Given the description of an element on the screen output the (x, y) to click on. 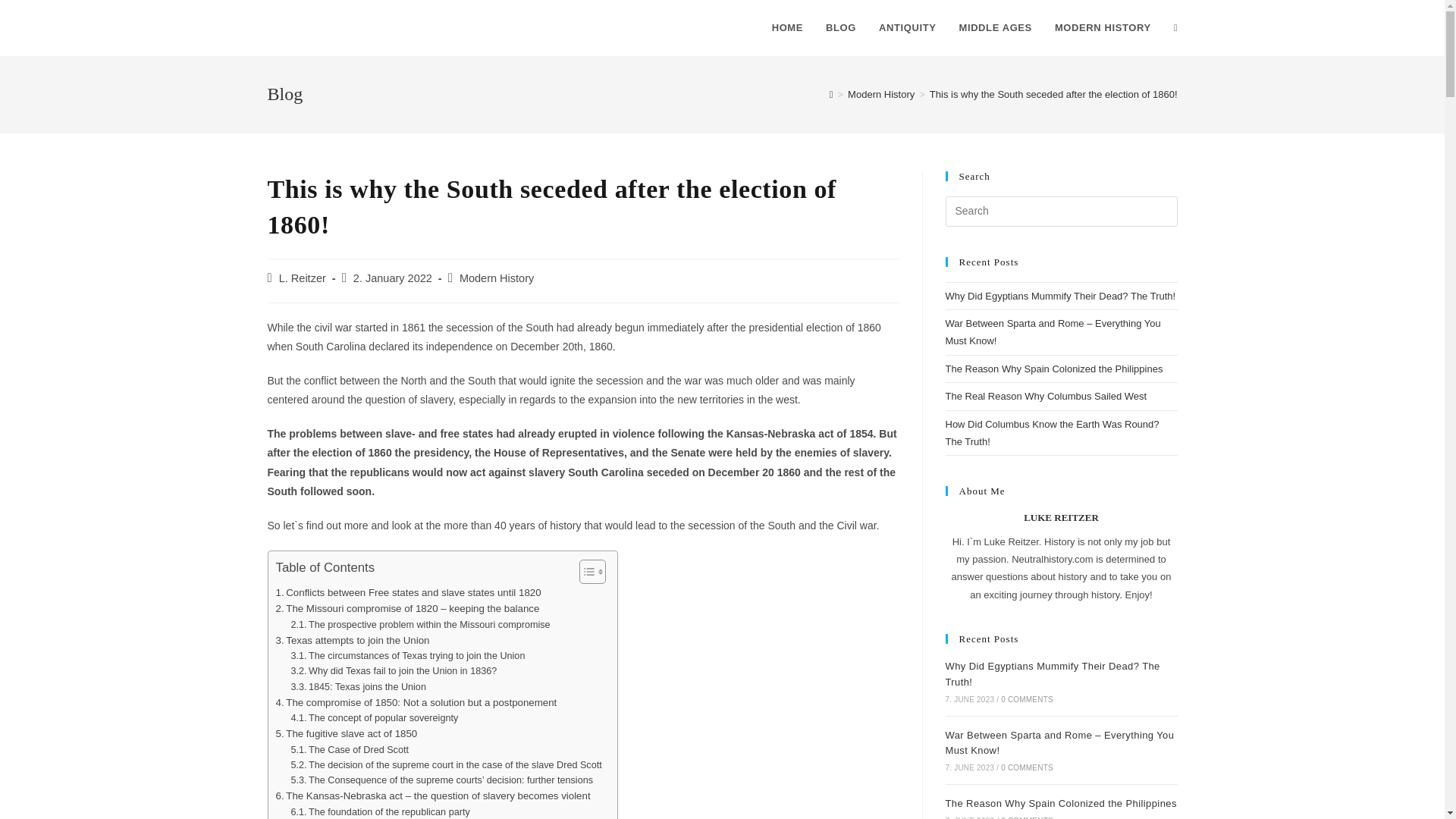
neutralhistory.com (339, 27)
BLOG (840, 28)
1845: Texas joins the Union (357, 686)
The circumstances of Texas trying to join the Union (406, 655)
Modern History (880, 93)
MODERN HISTORY (1102, 28)
This is why the South seceded after the election of 1860! (1053, 93)
The concept of popular sovereignty (373, 717)
The concept of popular sovereignty (373, 717)
Conflicts between Free states and slave states until 1820 (408, 592)
The compromise of 1850: Not a solution but a postponement (416, 702)
The Case of Dred Scott (349, 749)
HOME (786, 28)
ANTIQUITY (907, 28)
The circumstances of Texas trying to join the Union (406, 655)
